Given the description of an element on the screen output the (x, y) to click on. 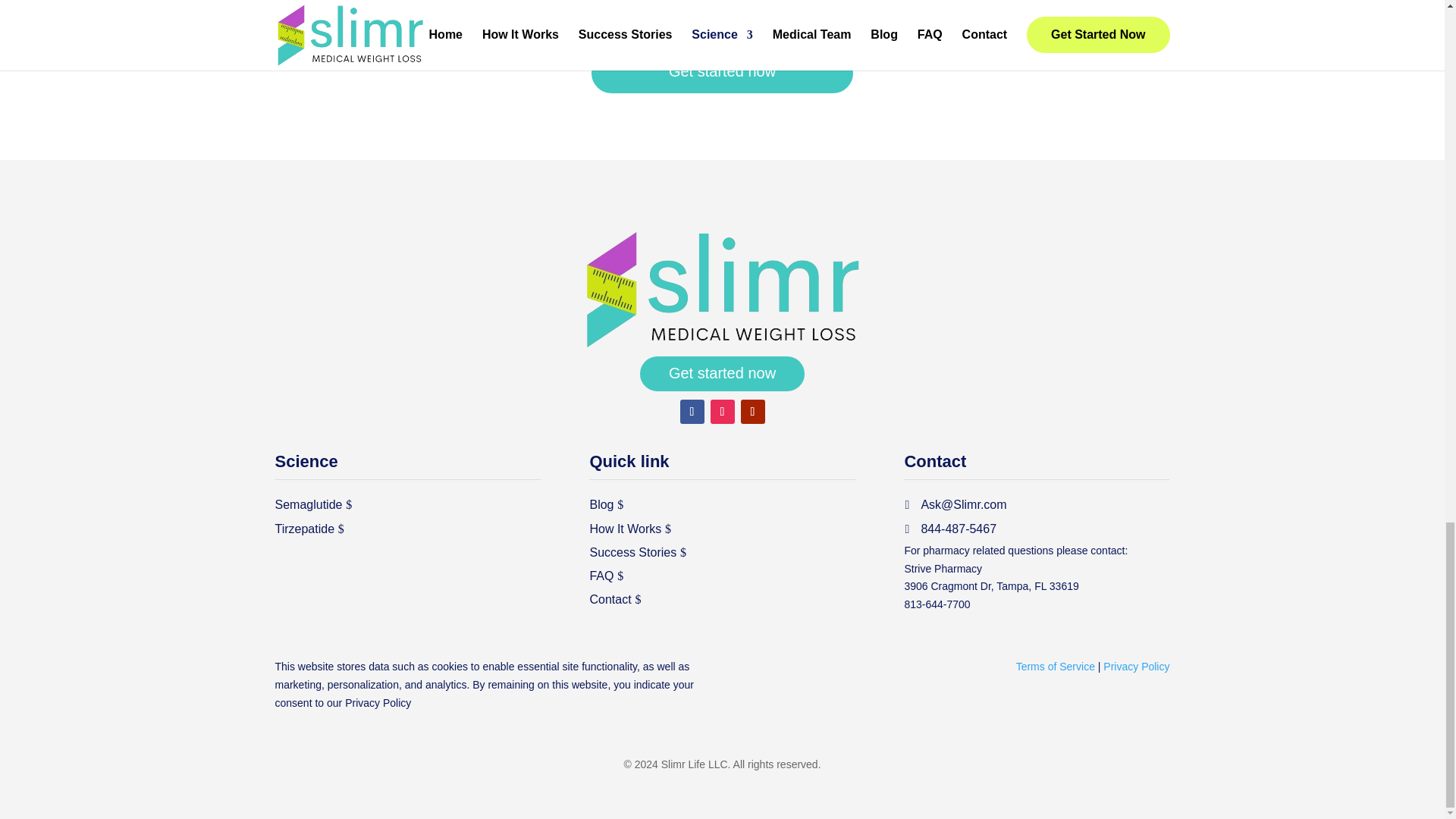
Terms of Service (1055, 666)
Privacy Policy (377, 702)
Success Stories (633, 552)
How It Works (625, 528)
Semaglutide (308, 504)
Follow on Instagram (721, 411)
Tirzepatide (304, 528)
Contact (609, 598)
Follow on Facebook (691, 411)
Follow on Youtube (751, 411)
